Given the description of an element on the screen output the (x, y) to click on. 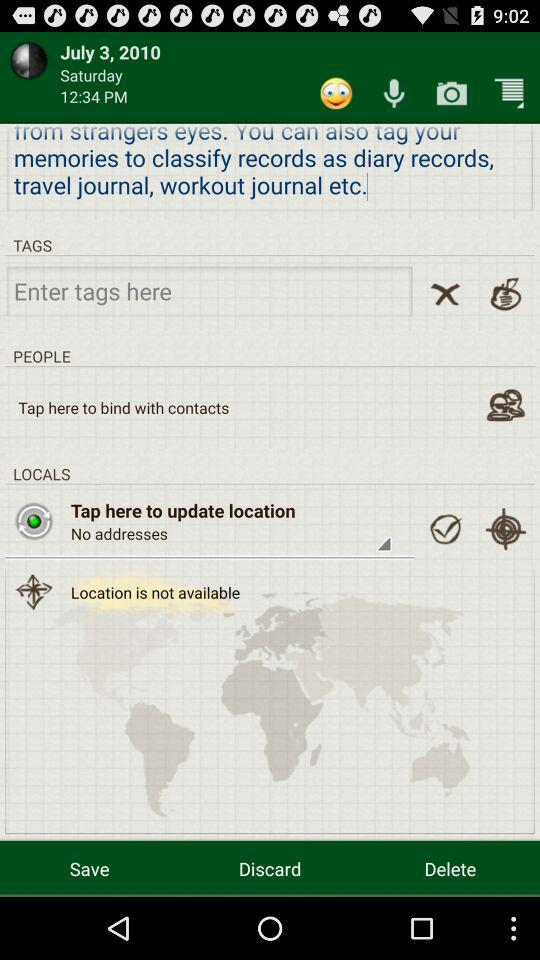
updates location (34, 521)
